Given the description of an element on the screen output the (x, y) to click on. 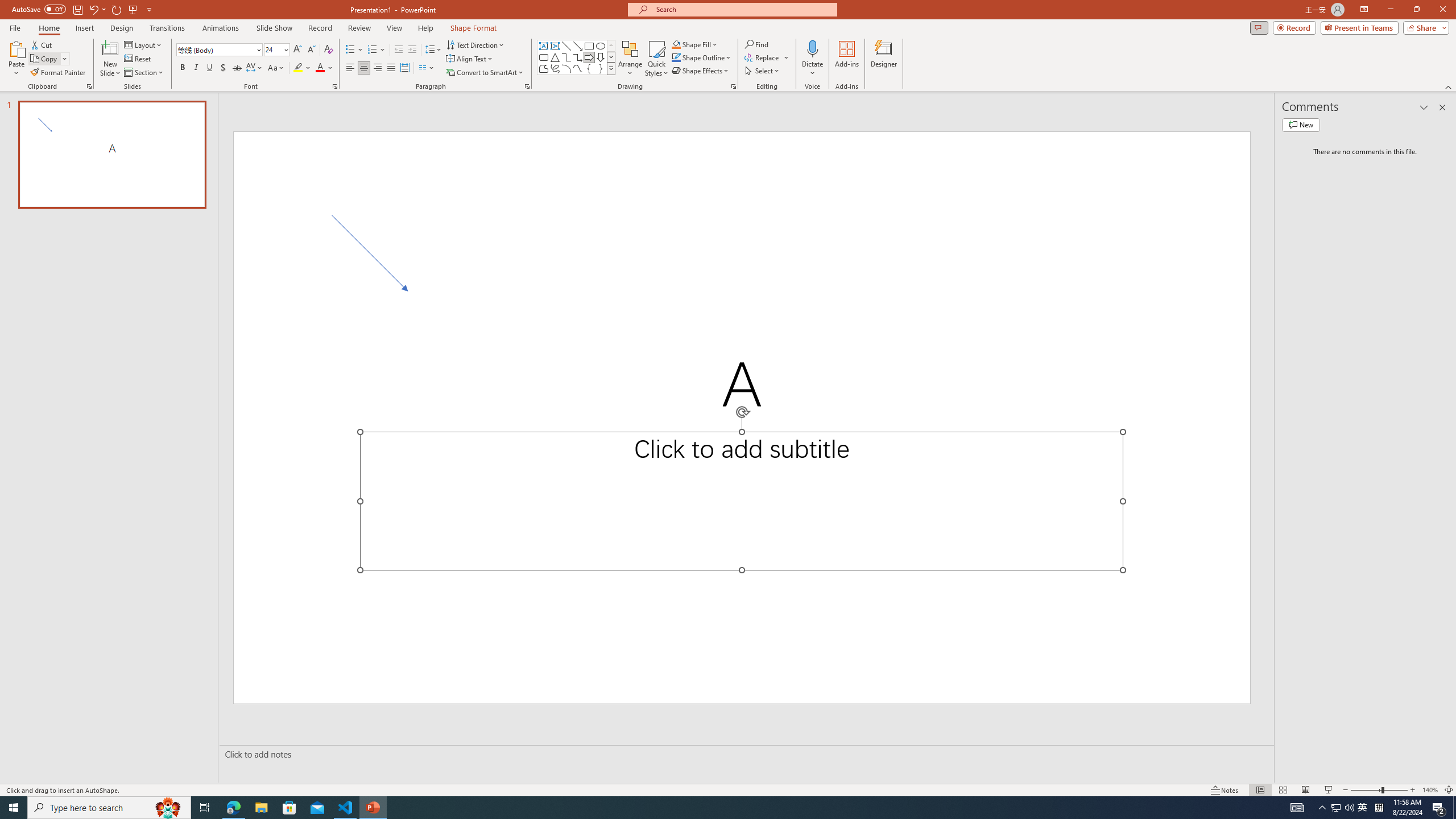
Zoom 140% (1430, 790)
